Given the description of an element on the screen output the (x, y) to click on. 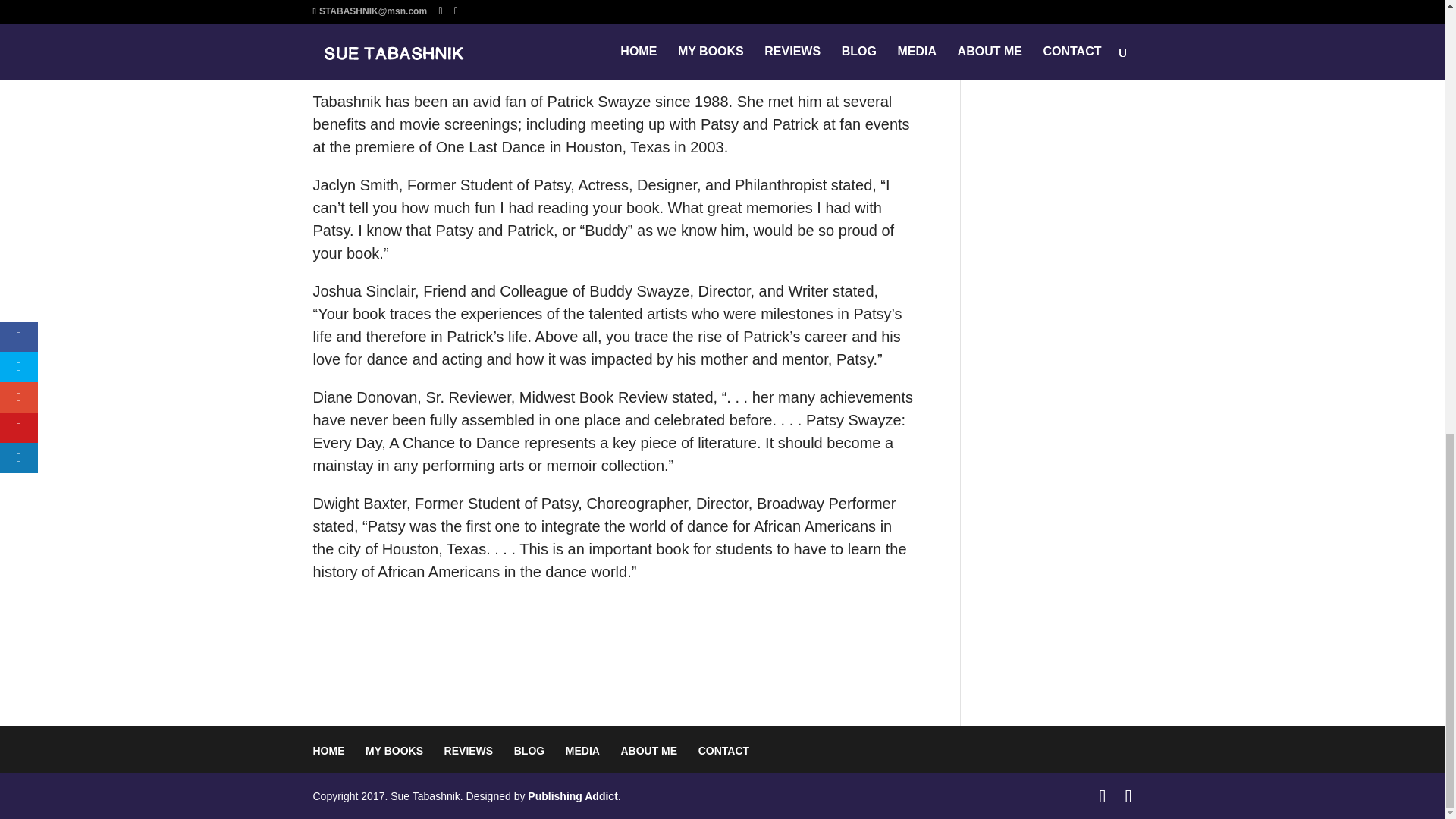
MY BOOKS (394, 750)
REVIEWS (468, 750)
HOME (328, 750)
MEDIA (582, 750)
CONTACT (723, 750)
BLOG (528, 750)
ABOUT ME (648, 750)
Publishing Addict (572, 796)
